Given the description of an element on the screen output the (x, y) to click on. 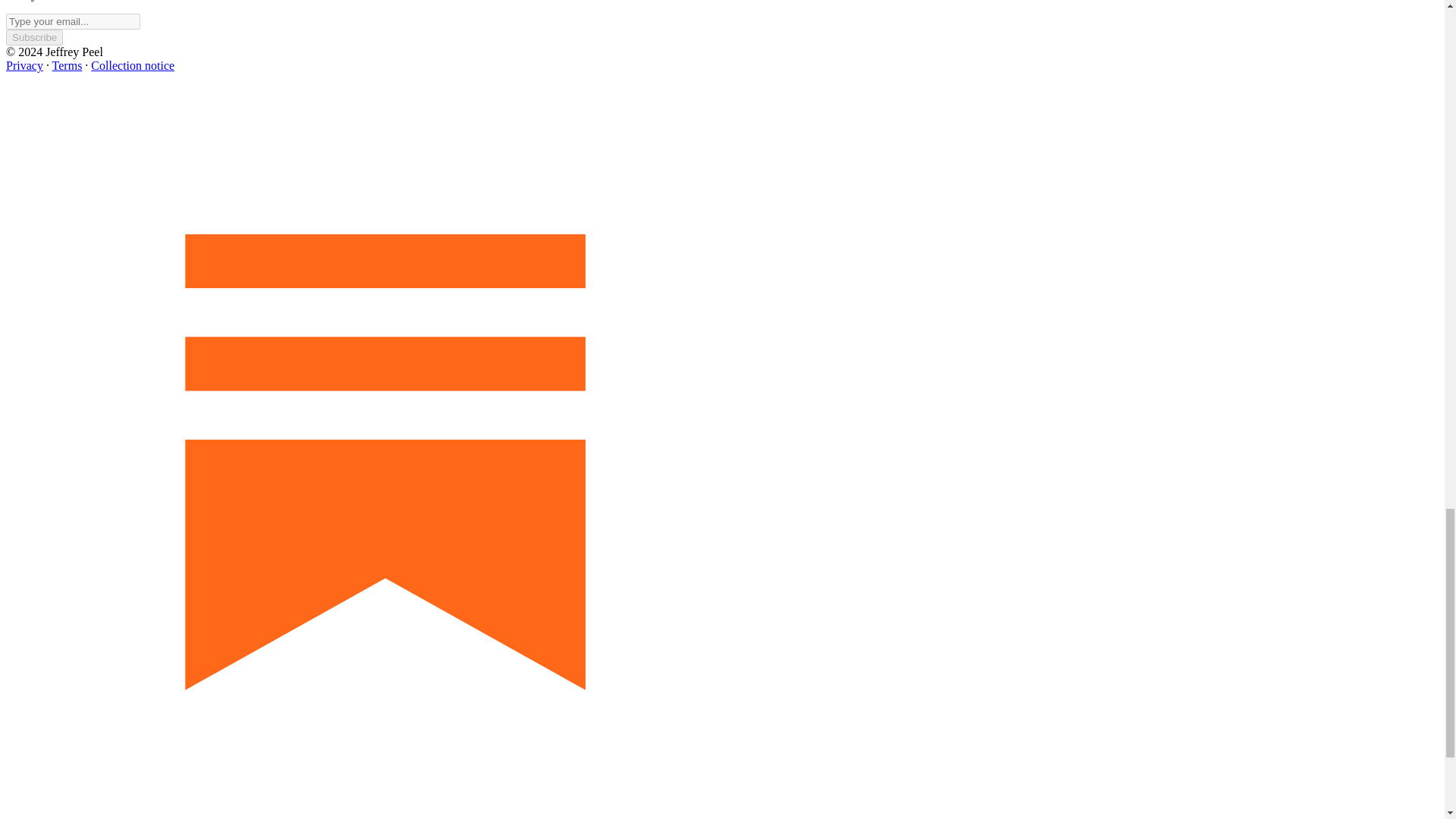
Terms (67, 65)
Collection notice (132, 65)
Subscribe (33, 37)
Privacy (24, 65)
